Given the description of an element on the screen output the (x, y) to click on. 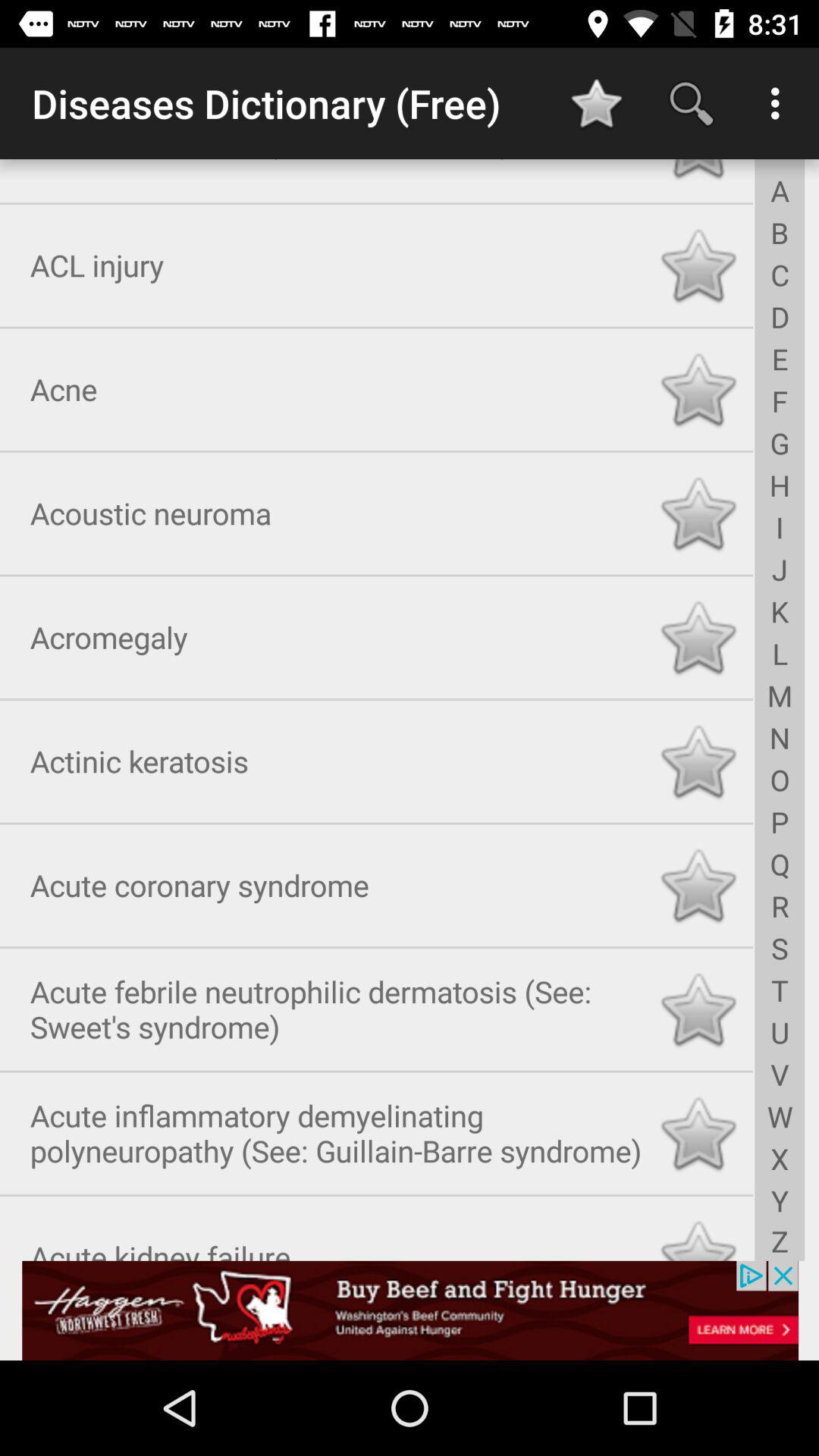
click advertisement (409, 1310)
